Given the description of an element on the screen output the (x, y) to click on. 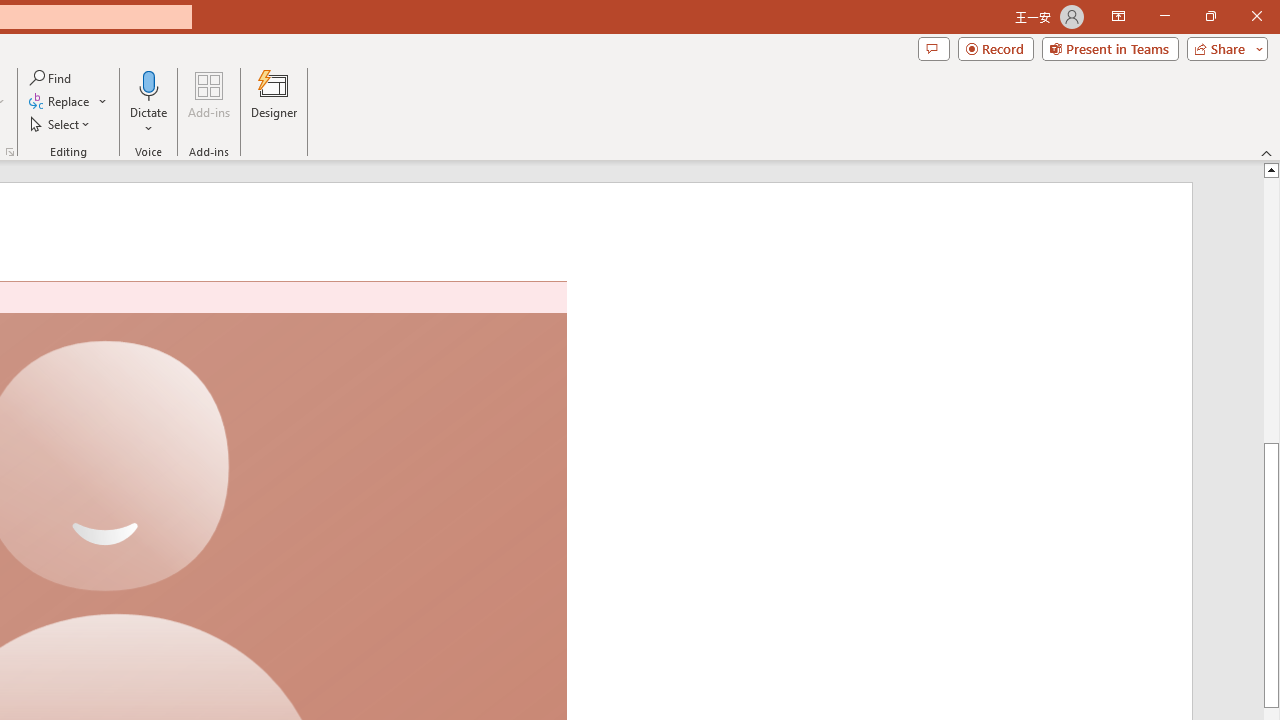
Picture Effects (605, 101)
Size and Position... (1244, 151)
Bevel Rectangle (332, 100)
Align (945, 102)
Picture... (663, 151)
Bevel Perspective (388, 100)
Send Backward (836, 84)
Picture Layout (605, 124)
